Given the description of an element on the screen output the (x, y) to click on. 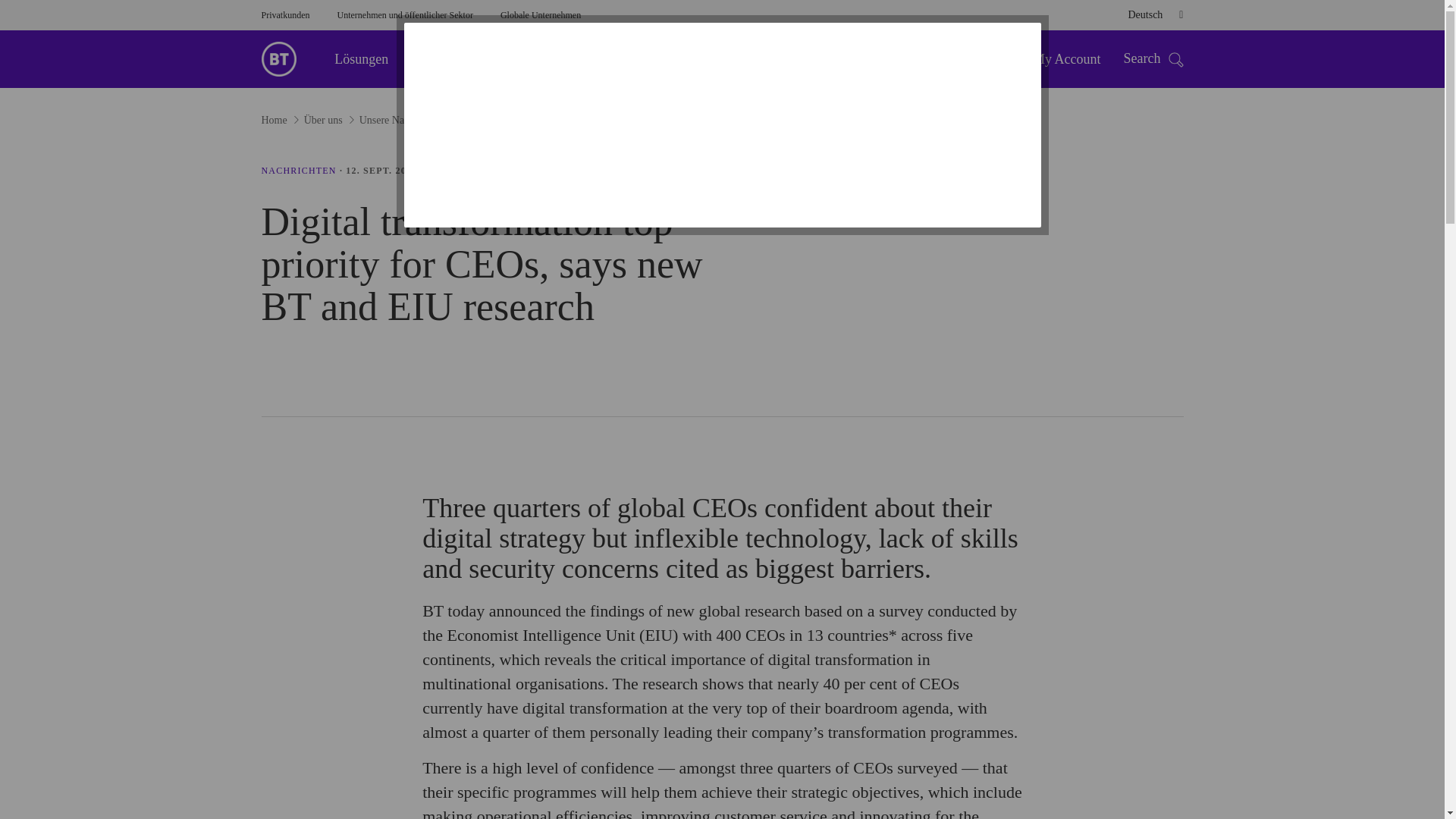
Einblicke (444, 58)
Globale Unternehmen (540, 15)
Privatkunden (284, 15)
Unsere Nachrichten und Pressemitteilungen (298, 170)
Deutsch (1149, 14)
My Account (1066, 58)
TrustArc Cookie Consent Manager (722, 124)
